Given the description of an element on the screen output the (x, y) to click on. 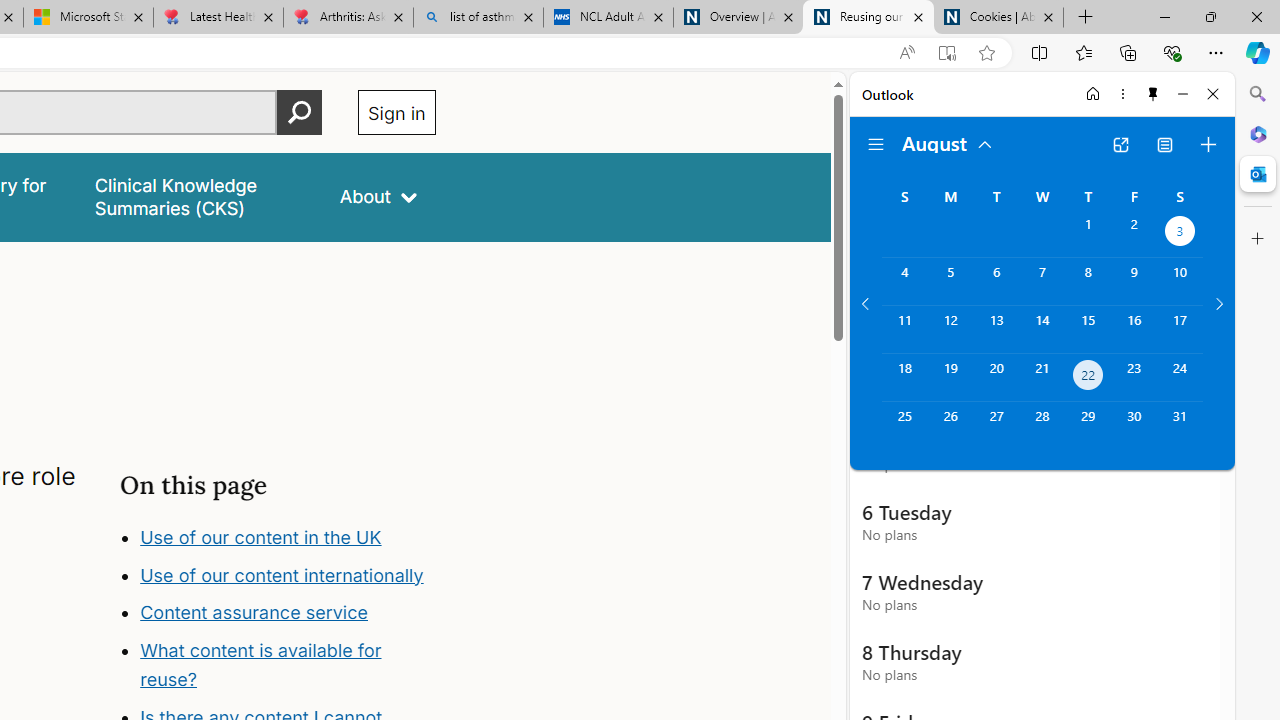
Use of our content in the UK (260, 536)
What content is available for reuse? (260, 665)
Tuesday, August 27, 2024.  (996, 425)
Tuesday, August 13, 2024.  (996, 329)
Saturday, August 3, 2024. Date selected.  (1180, 233)
Thursday, August 22, 2024. Today.  (1088, 377)
Friday, August 9, 2024.  (1134, 281)
Friday, August 2, 2024.  (1134, 233)
Tuesday, August 20, 2024.  (996, 377)
Folder navigation (876, 144)
Sunday, August 4, 2024.  (904, 281)
